Given the description of an element on the screen output the (x, y) to click on. 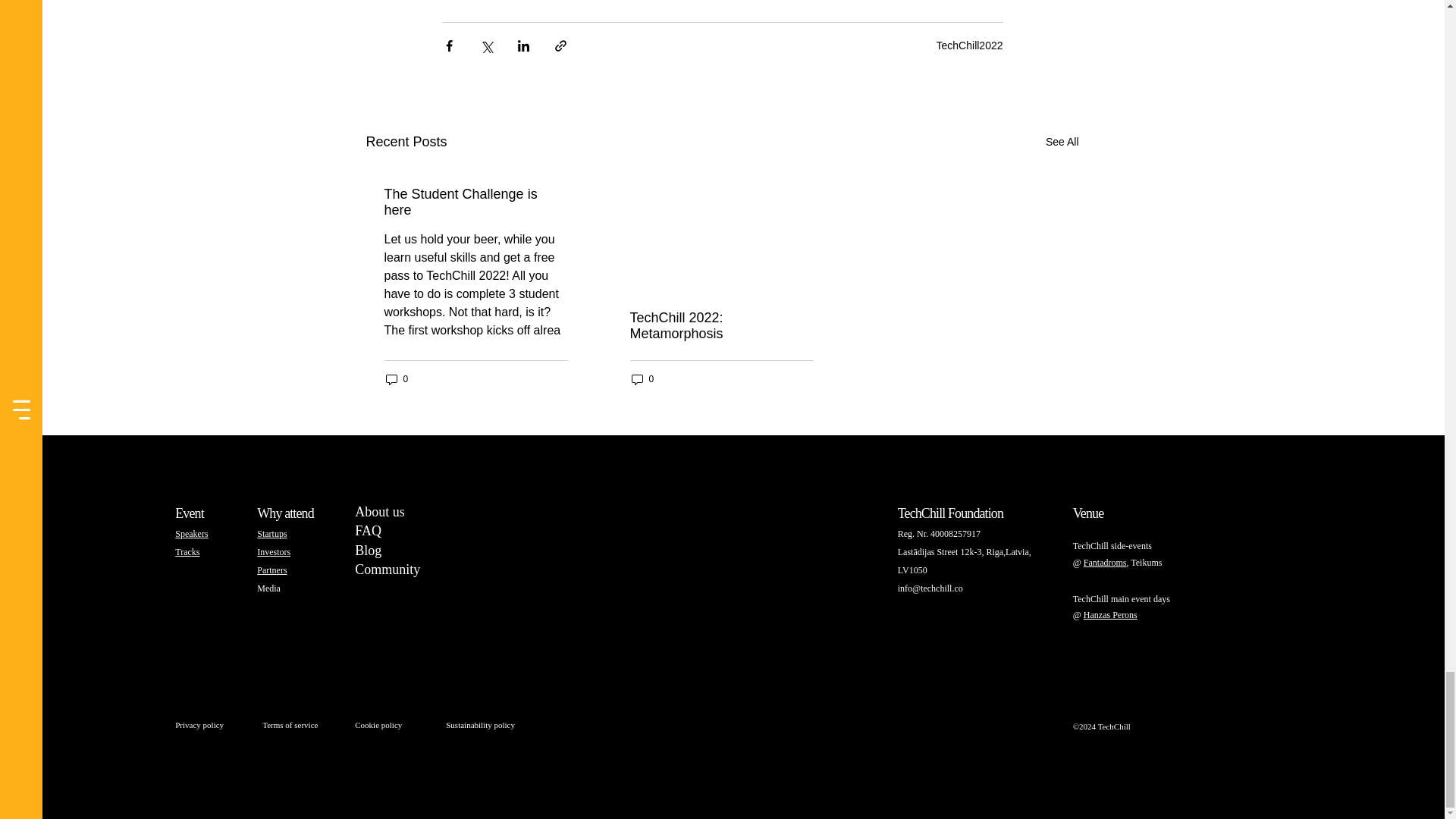
TechChill 2022: Metamorphosis (720, 326)
Partners (379, 521)
See All (271, 570)
Blog (1061, 142)
0 (368, 549)
Media (396, 379)
TechChill2022 (269, 588)
Investors (969, 45)
Privacy policy (273, 552)
Hanzas Perons (199, 724)
Speakers (1110, 614)
Community (191, 533)
Tracks (387, 569)
Fantadroms (186, 552)
